Given the description of an element on the screen output the (x, y) to click on. 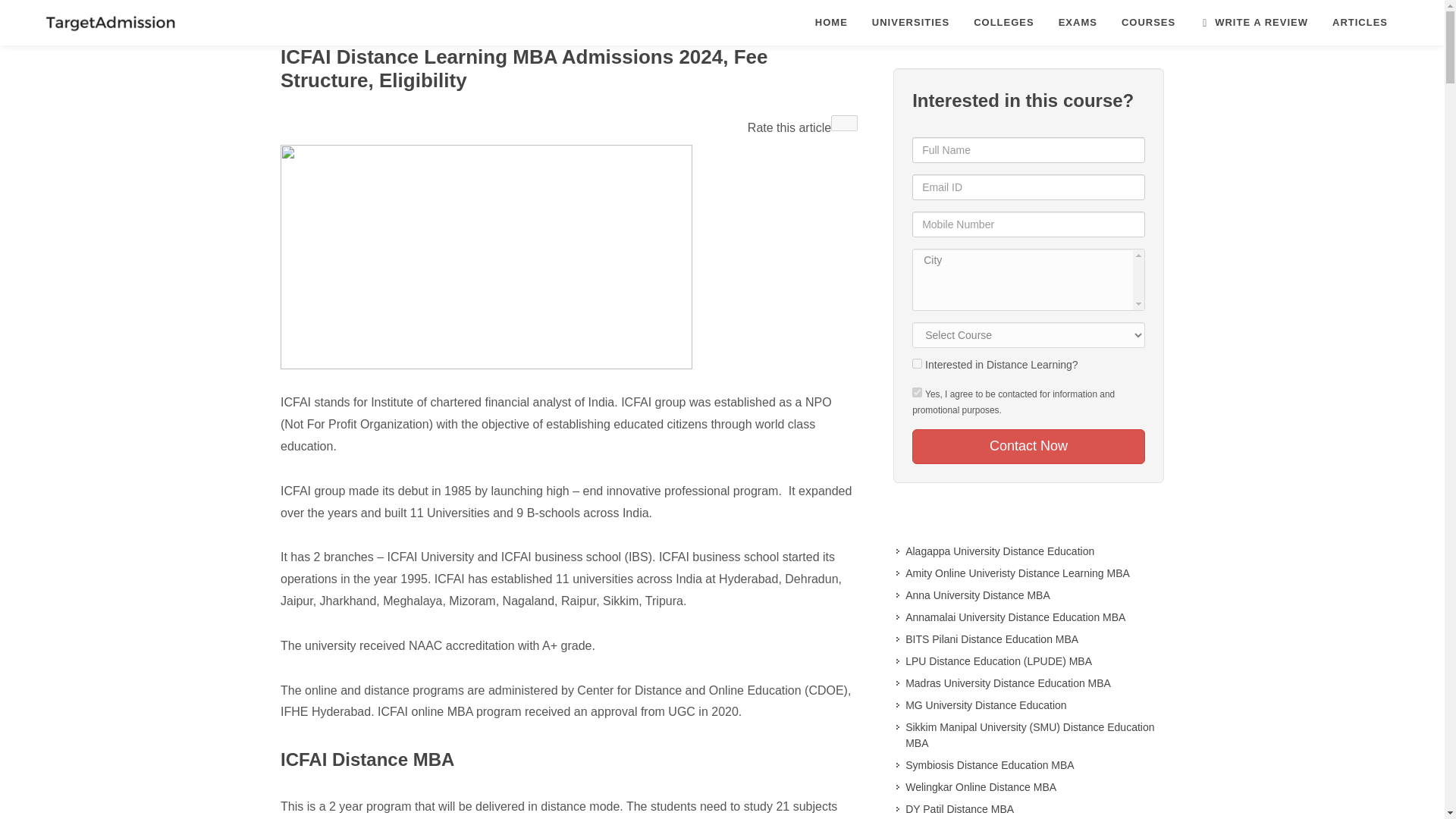
HOME (831, 22)
COLLEGES (1003, 22)
on (916, 392)
on (916, 363)
UNIVERSITIES (910, 22)
TargetAdmission.com (109, 22)
